Given the description of an element on the screen output the (x, y) to click on. 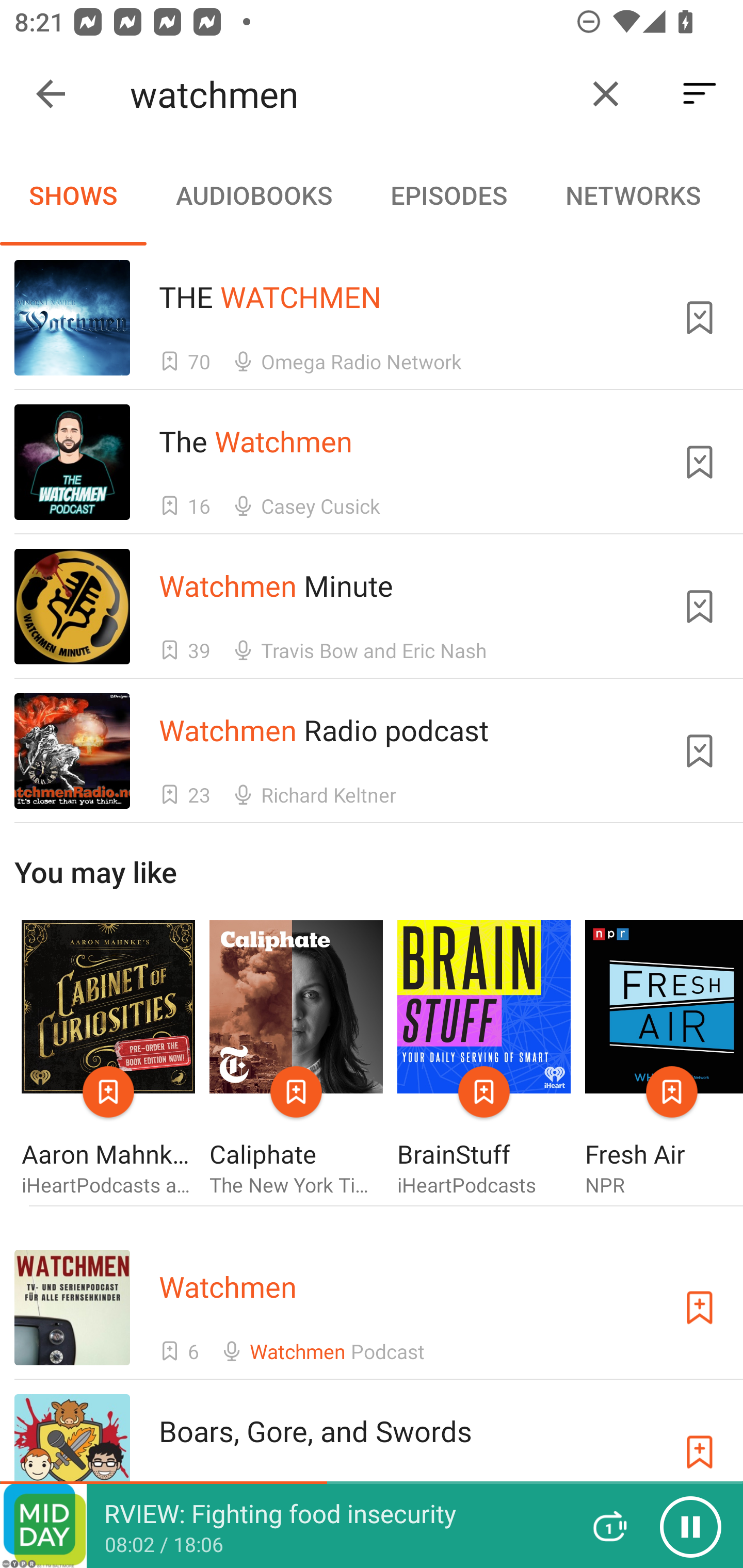
Collapse (50, 93)
Clear query (605, 93)
Sort By (699, 93)
watchmen (349, 94)
SHOWS (73, 195)
AUDIOBOOKS (253, 195)
EPISODES (448, 195)
NETWORKS (632, 195)
Unsubscribe (699, 317)
Unsubscribe (699, 462)
Unsubscribe (699, 606)
Unsubscribe (699, 751)
Caliphate The New York Times (295, 1058)
BrainStuff iHeartPodcasts (483, 1058)
